Given the description of an element on the screen output the (x, y) to click on. 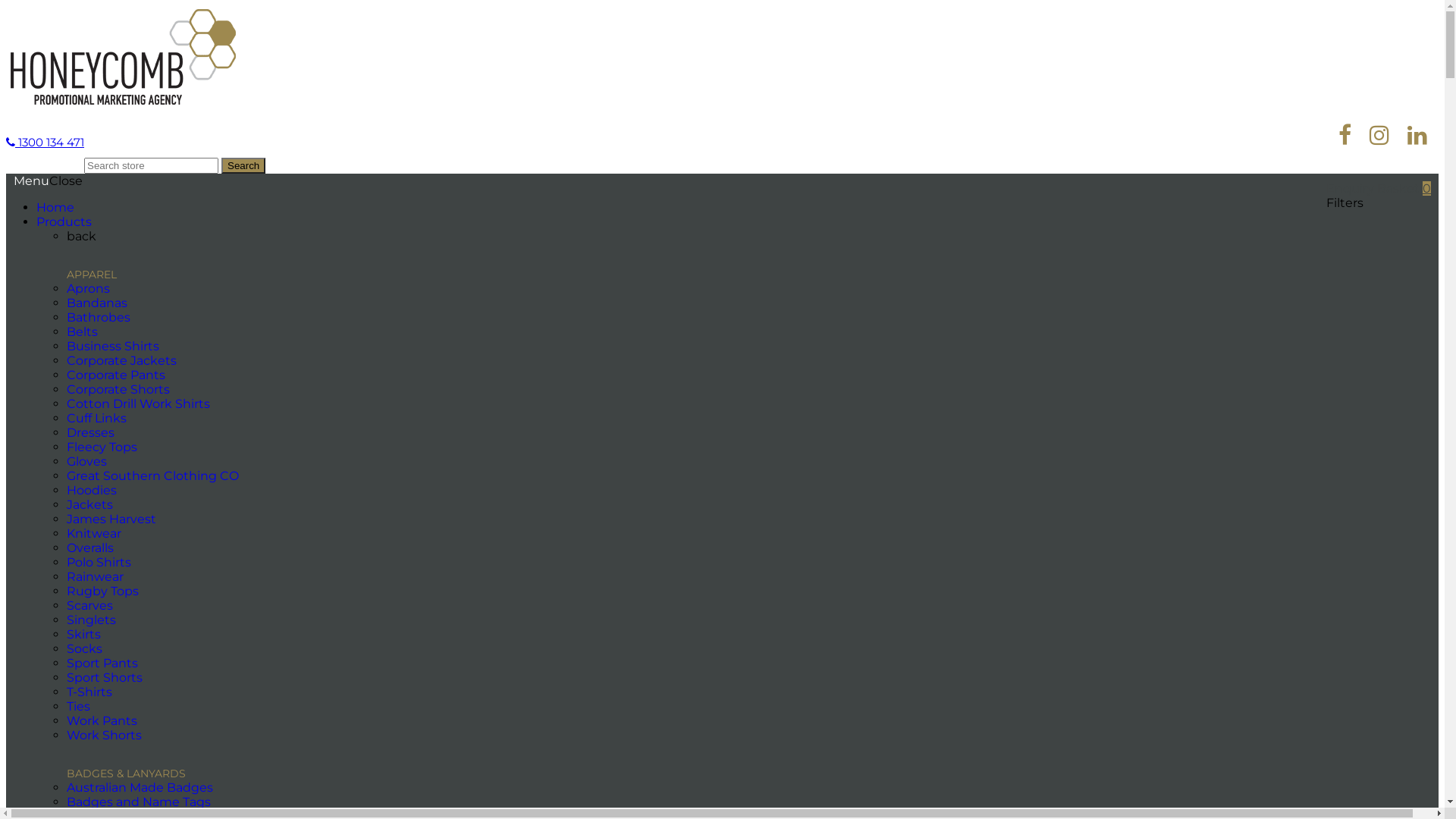
Cotton Drill Work Shirts Element type: text (138, 403)
Work Shorts Element type: text (103, 735)
Bathrobes Element type: text (98, 317)
Dresses Element type: text (90, 432)
Business Shirts Element type: text (112, 345)
Sport Shorts Element type: text (104, 677)
Home Element type: text (55, 207)
T-Shirts Element type: text (89, 691)
BADGES & LANYARDS Element type: text (125, 773)
Badges and Name Tags Element type: text (138, 801)
Corporate Pants Element type: text (115, 374)
Bandanas Element type: text (96, 302)
Enquiry Basket 0 Element type: text (1378, 188)
Aprons Element type: text (87, 288)
Polo Shirts Element type: text (98, 562)
Belts Element type: text (81, 331)
1300 134 471 Element type: text (45, 141)
Cuff Links Element type: text (96, 418)
Rugby Tops Element type: text (102, 590)
Overalls Element type: text (89, 547)
Search Element type: text (243, 165)
Hoodies Element type: text (91, 490)
Gloves Element type: text (86, 461)
Rainwear Element type: text (94, 576)
Fleecy Tops Element type: text (101, 446)
James Harvest Element type: text (111, 518)
Australian Made Badges Element type: text (139, 787)
Ties Element type: text (78, 706)
Socks Element type: text (84, 648)
Knitwear Element type: text (93, 533)
APPAREL Element type: text (91, 274)
Singlets Element type: text (91, 619)
Corporate Shorts Element type: text (117, 389)
Skirts Element type: text (83, 634)
Work Pants Element type: text (101, 720)
Corporate Jackets Element type: text (121, 360)
Sport Pants Element type: text (102, 662)
Great Southern Clothing CO Element type: text (152, 475)
Jackets Element type: text (89, 504)
Products Element type: text (63, 221)
Scarves Element type: text (89, 605)
